Given the description of an element on the screen output the (x, y) to click on. 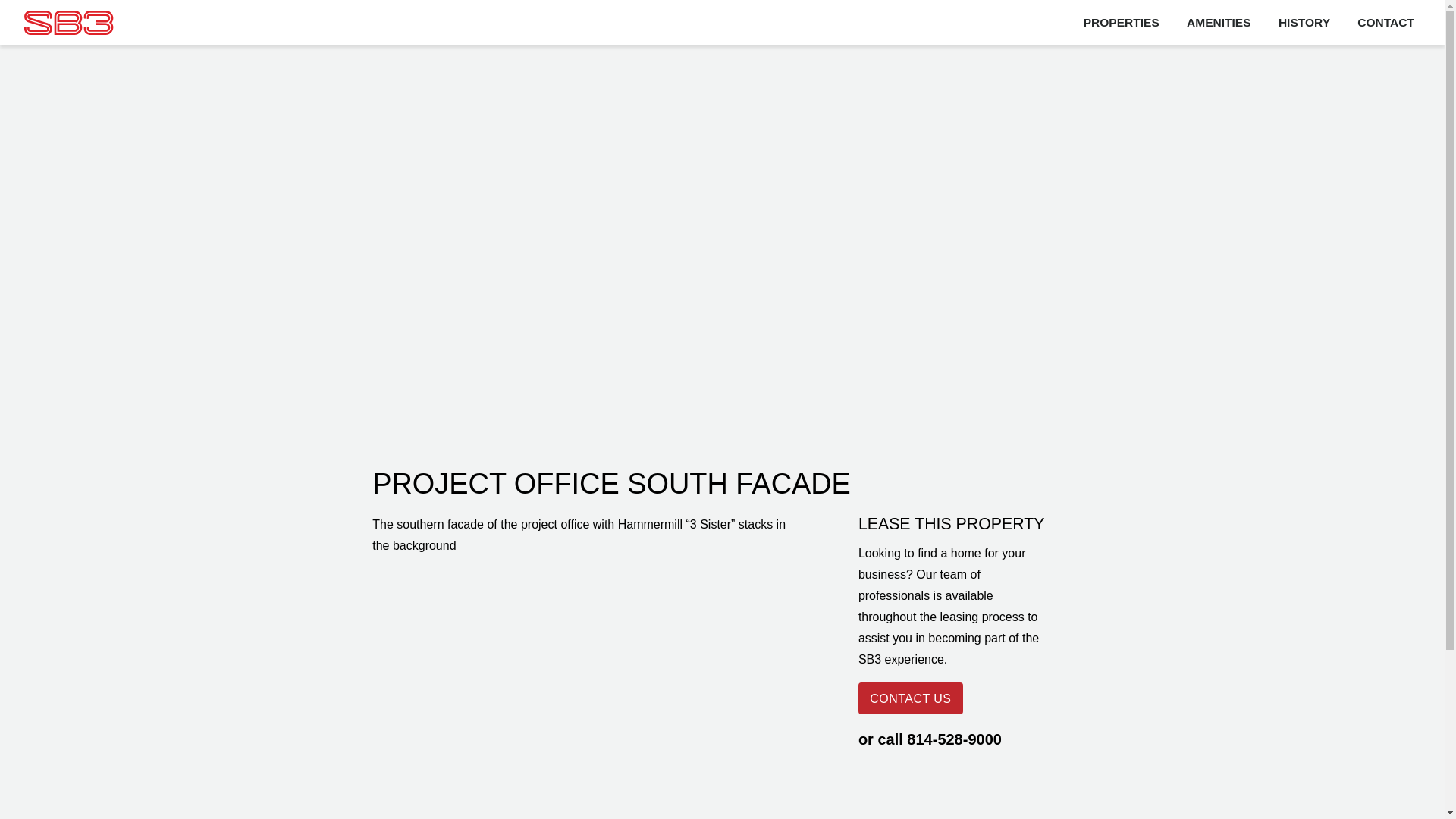
HISTORY (1304, 21)
PROPERTIES (1121, 21)
CONTACT US (910, 698)
CONTACT (1385, 21)
AMENITIES (1218, 21)
